Given the description of an element on the screen output the (x, y) to click on. 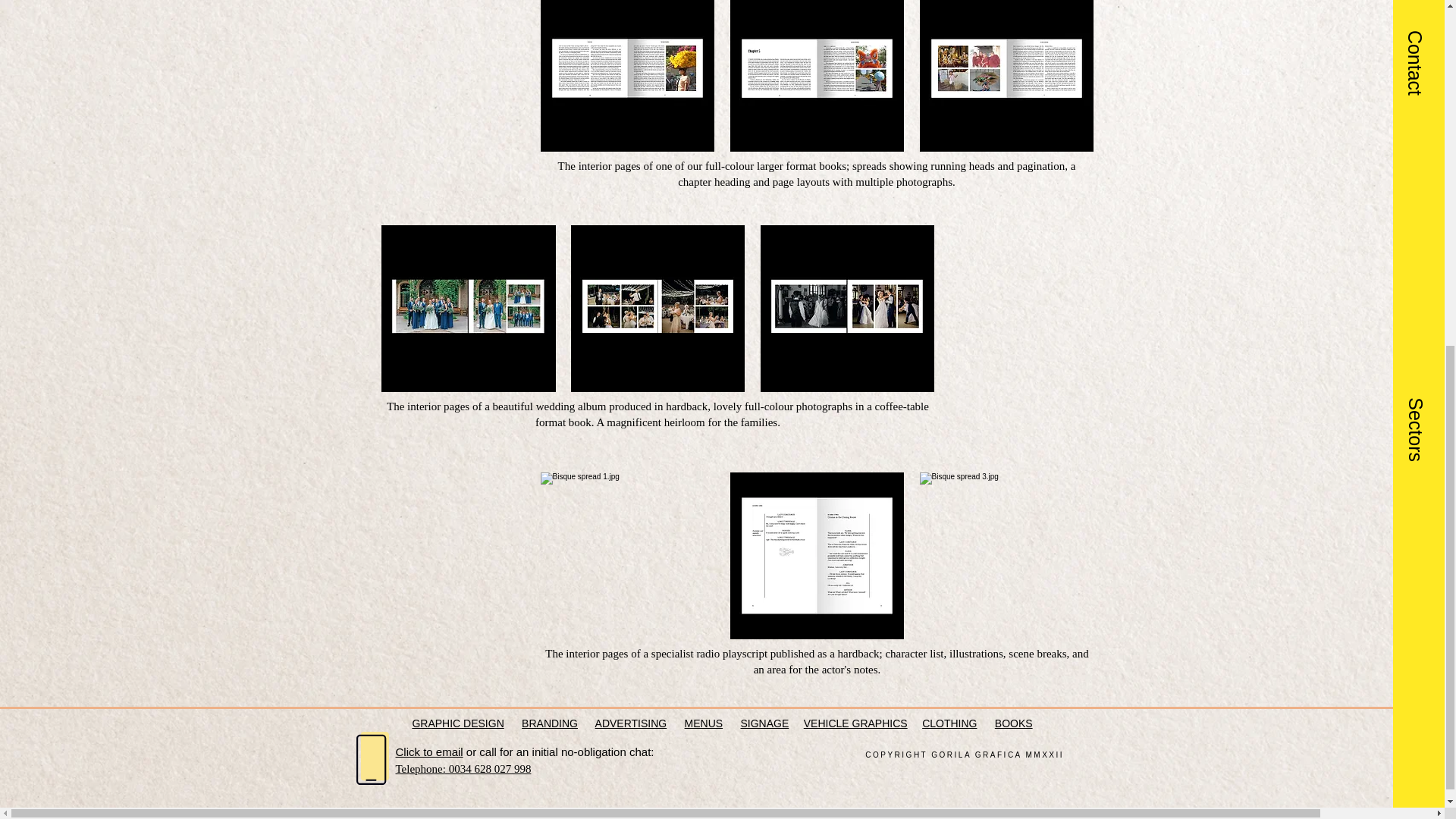
Click to email (429, 751)
BOOKS (1013, 723)
GRAPHIC DESIGN (457, 723)
Telephone: 0034 628 027 998 (463, 768)
VEHICLE GRAPHICS (855, 723)
ADVERTISING (630, 723)
BRANDING (549, 723)
SIGNAGE (764, 723)
MENUS (703, 723)
CLOTHING (948, 723)
